Given the description of an element on the screen output the (x, y) to click on. 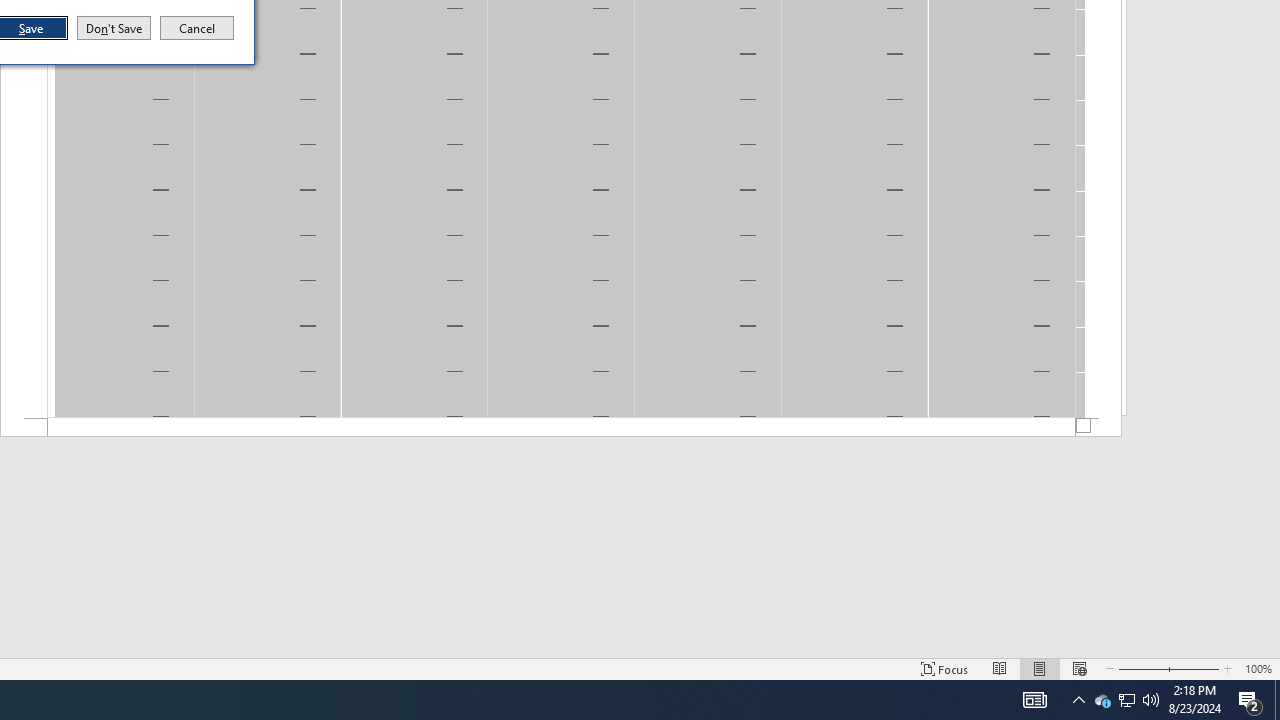
Print Layout (1126, 699)
AutomationID: 4105 (1039, 668)
Focus  (1034, 699)
Action Center, 2 new notifications (944, 668)
Zoom In (1250, 699)
Notification Chevron (1102, 699)
Q2790: 100% (1195, 668)
Web Layout (1078, 699)
Zoom Out (1151, 699)
